Given the description of an element on the screen output the (x, y) to click on. 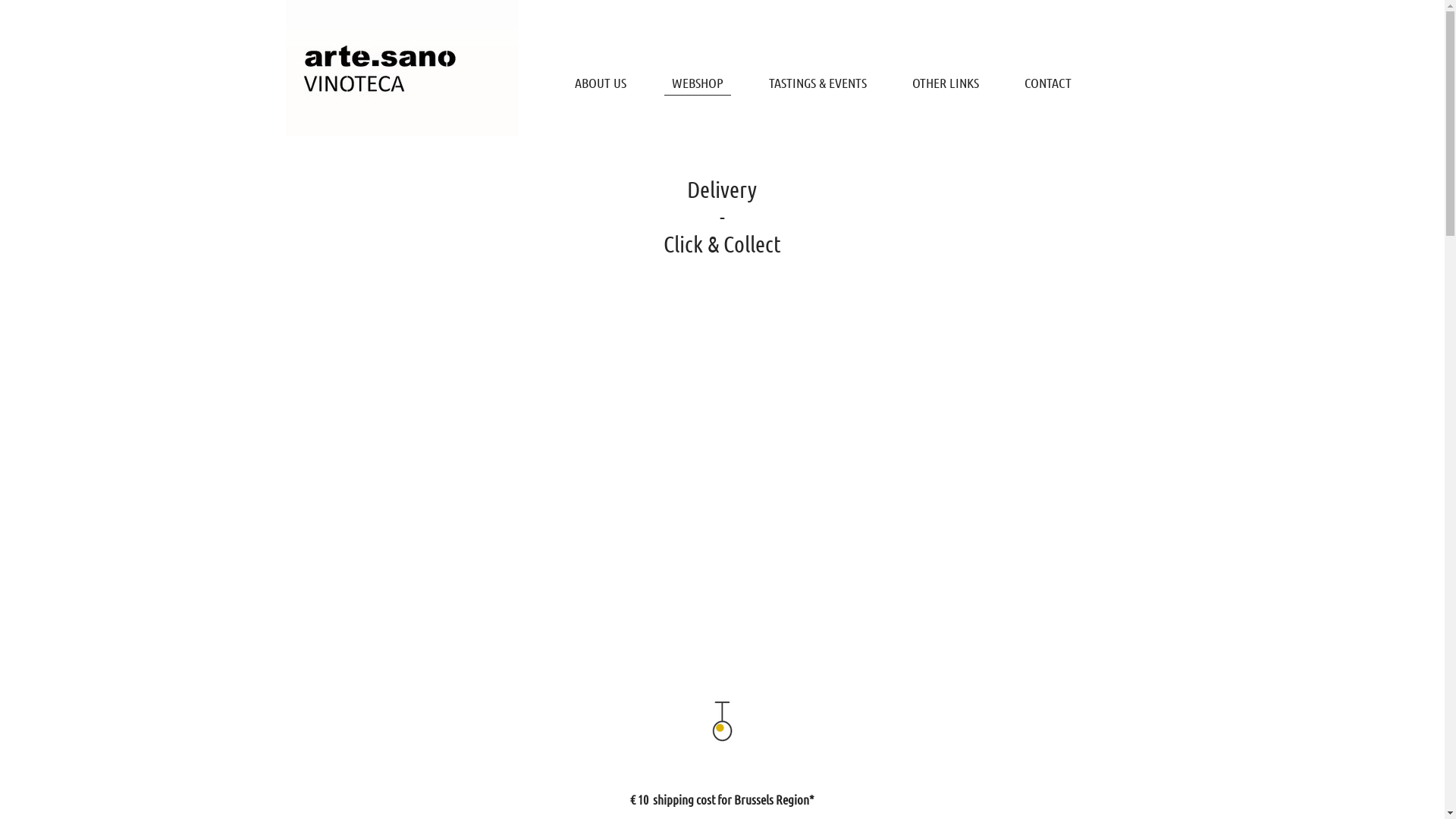
OTHER LINKS Element type: text (944, 81)
ABOUT US Element type: text (600, 81)
TASTINGS & EVENTS Element type: text (817, 81)
CONTACT Element type: text (1047, 81)
WEBSHOP Element type: text (697, 81)
